Given the description of an element on the screen output the (x, y) to click on. 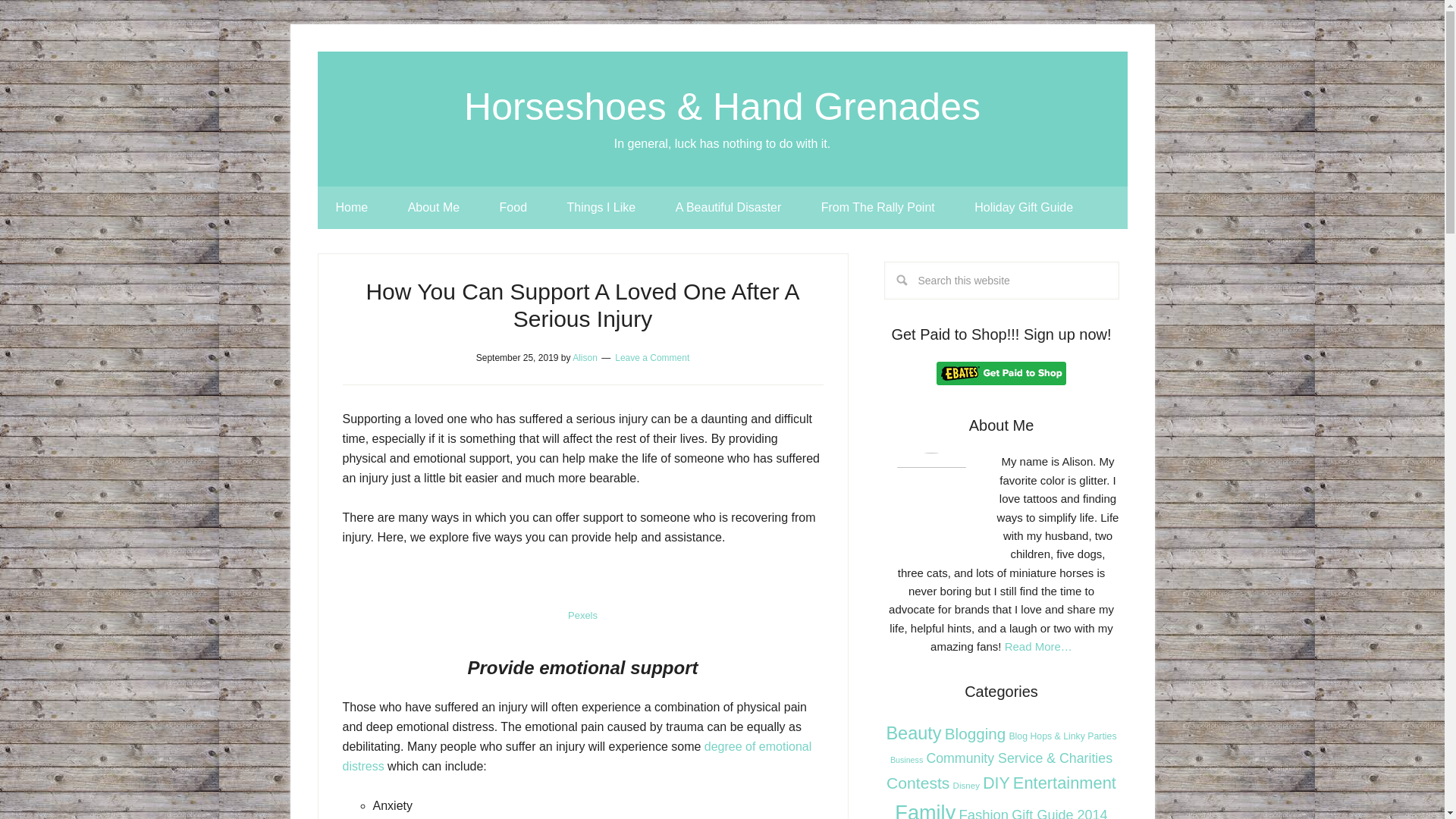
Business (906, 759)
Blogging (975, 733)
Food (512, 207)
Entertainment (1064, 782)
Things I Like (600, 207)
Pexels (581, 614)
Holiday Gift Guide (1023, 207)
Beauty (912, 732)
A Beautiful Disaster (728, 207)
